Given the description of an element on the screen output the (x, y) to click on. 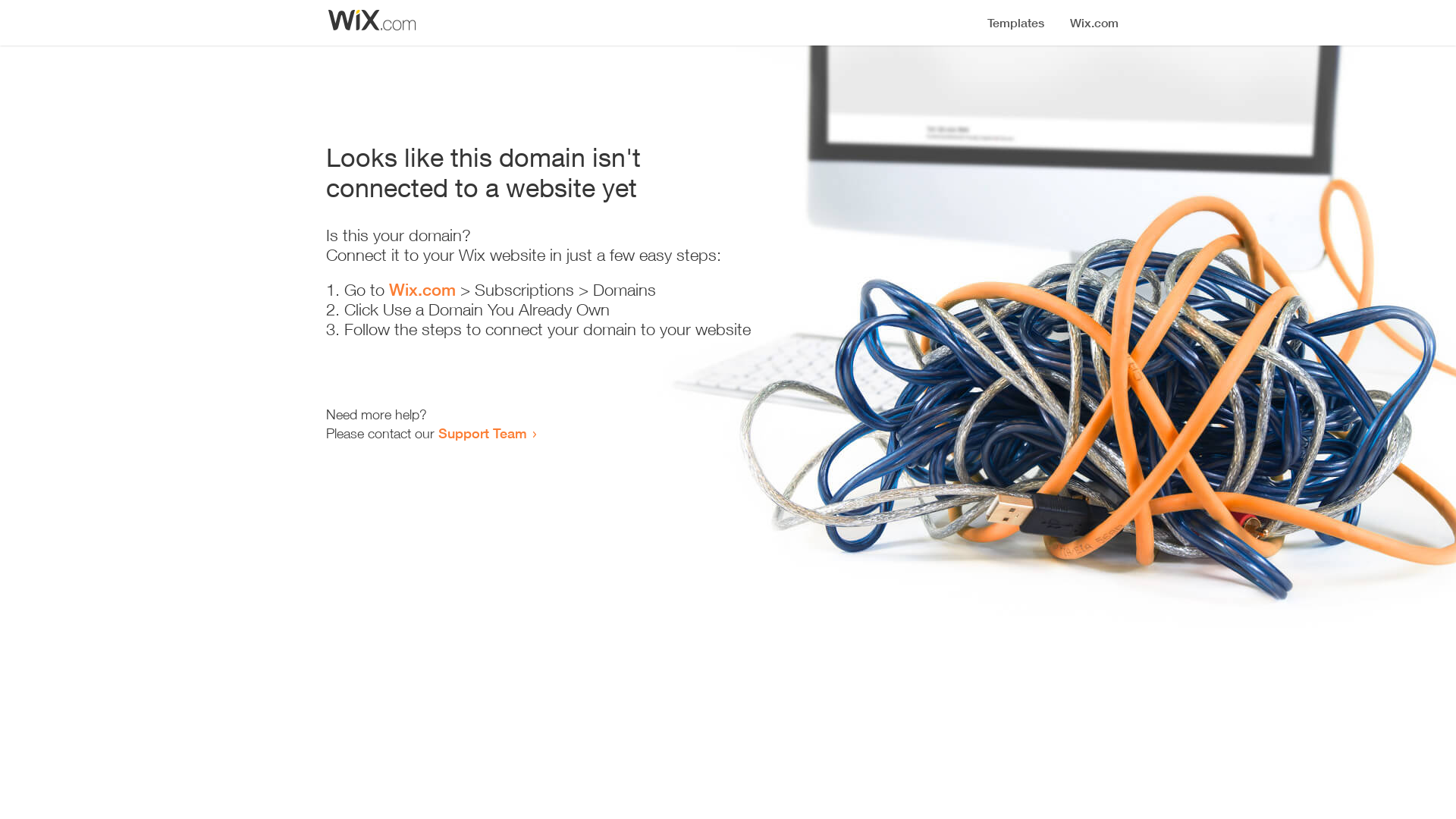
Wix.com Element type: text (422, 289)
Support Team Element type: text (482, 432)
